Given the description of an element on the screen output the (x, y) to click on. 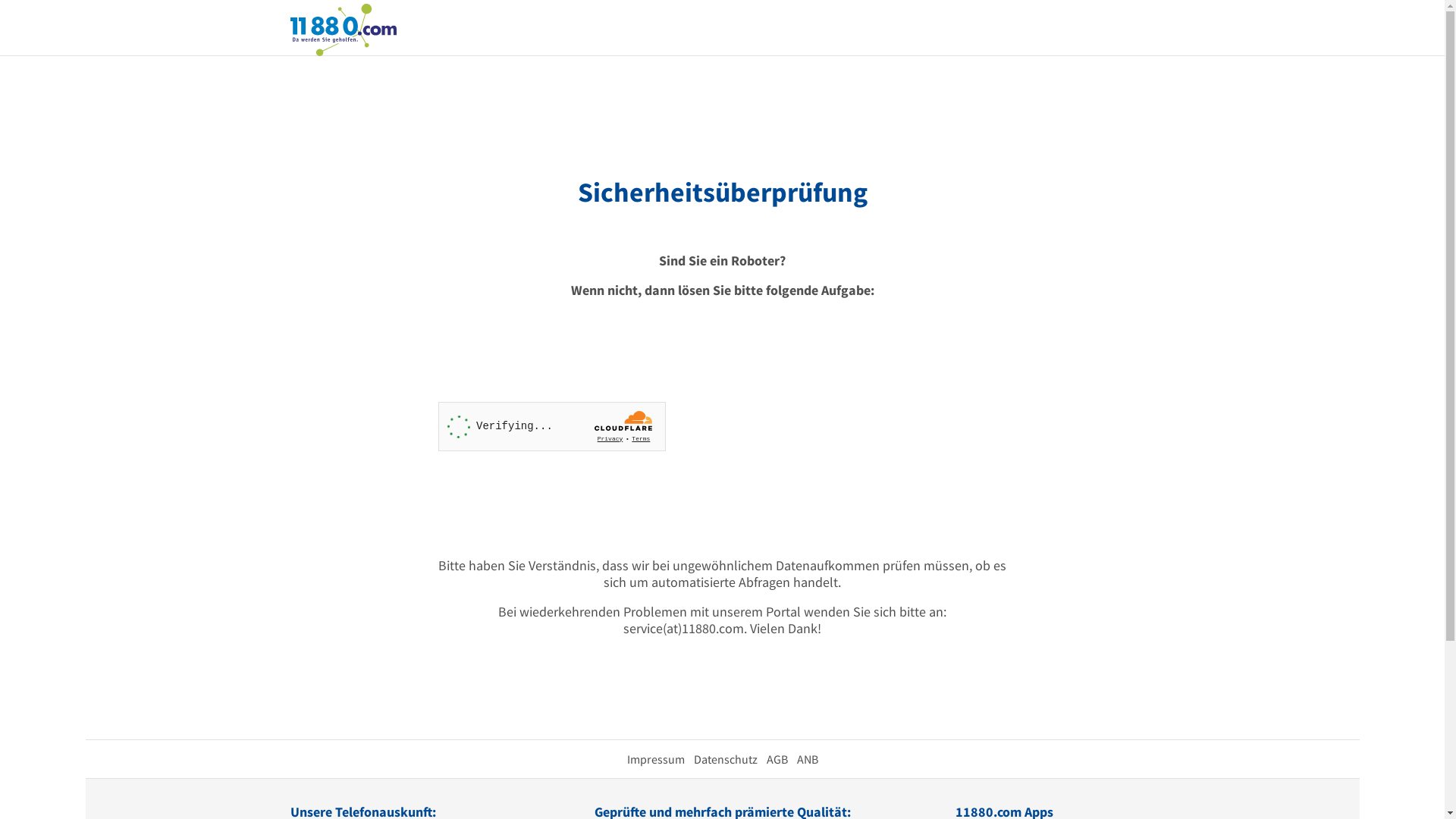
ANB Element type: text (806, 758)
11880.com Element type: hover (342, 28)
Datenschutz Element type: text (724, 758)
AGB Element type: text (776, 758)
Impressum Element type: text (655, 758)
Widget containing a Cloudflare security challenge Element type: hover (551, 426)
